Given the description of an element on the screen output the (x, y) to click on. 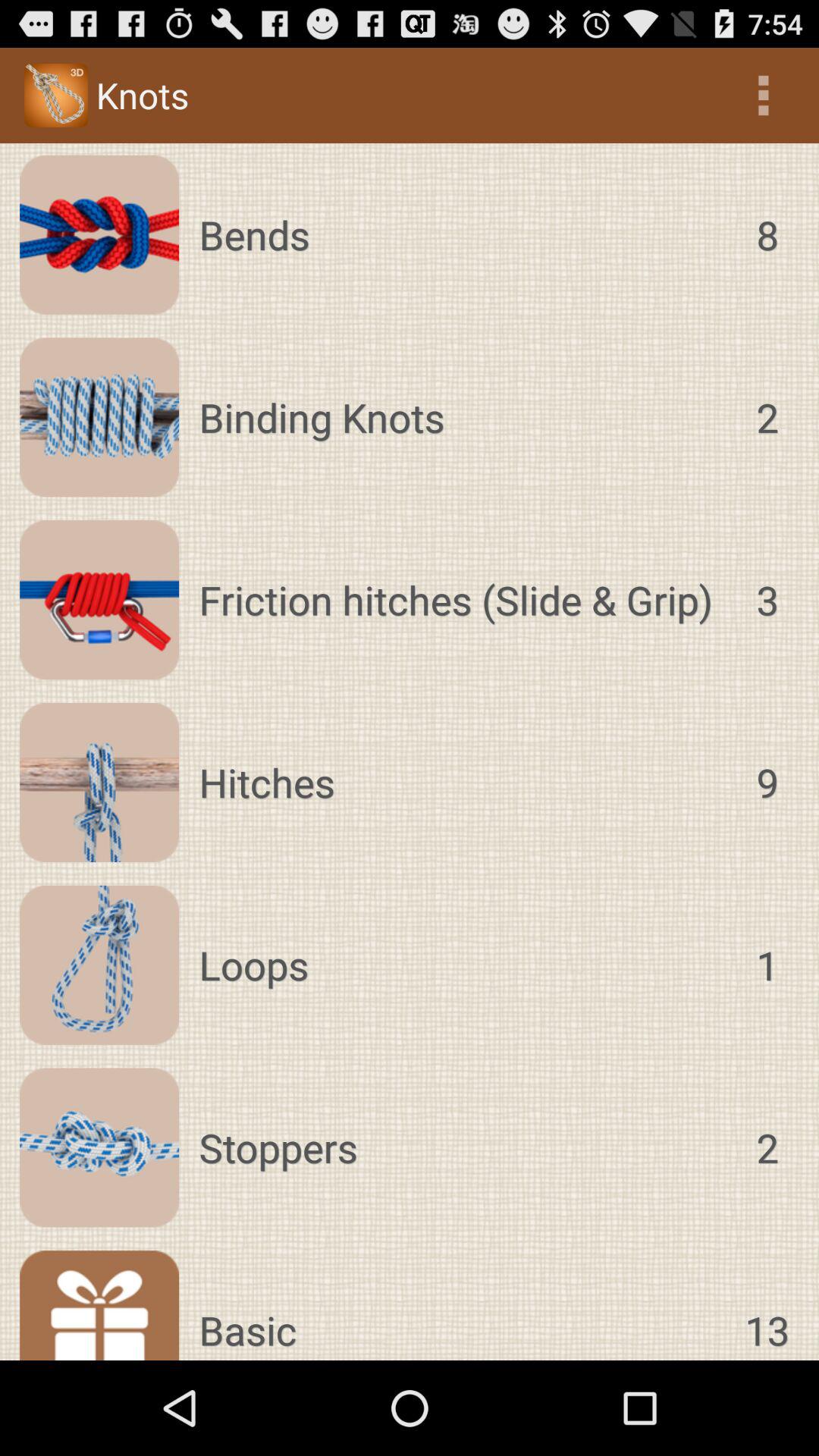
choose item above friction hitches slide app (463, 417)
